Given the description of an element on the screen output the (x, y) to click on. 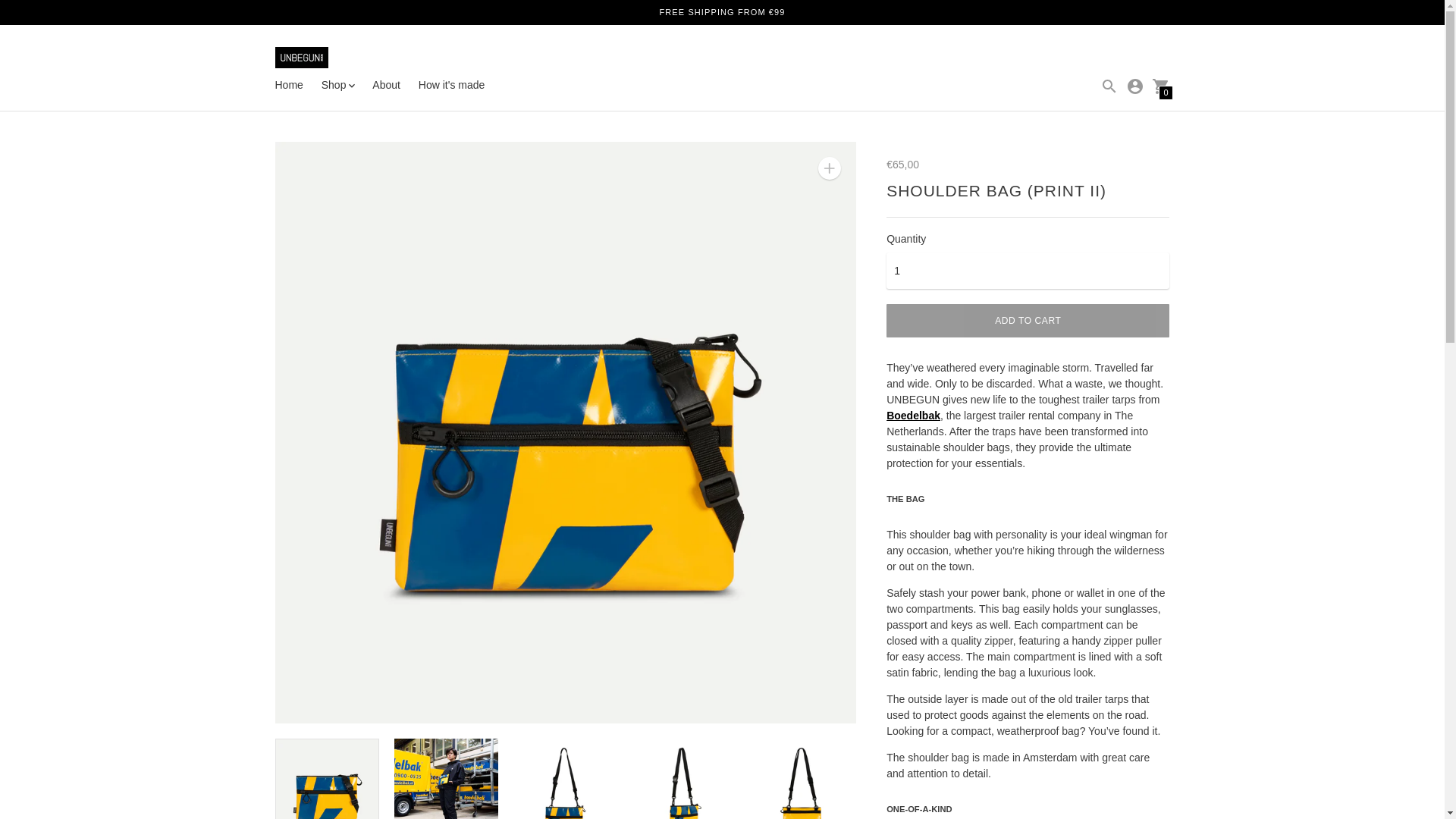
About (386, 84)
Home (288, 84)
Shop (338, 84)
How it's made (451, 84)
1 (1027, 270)
